Given the description of an element on the screen output the (x, y) to click on. 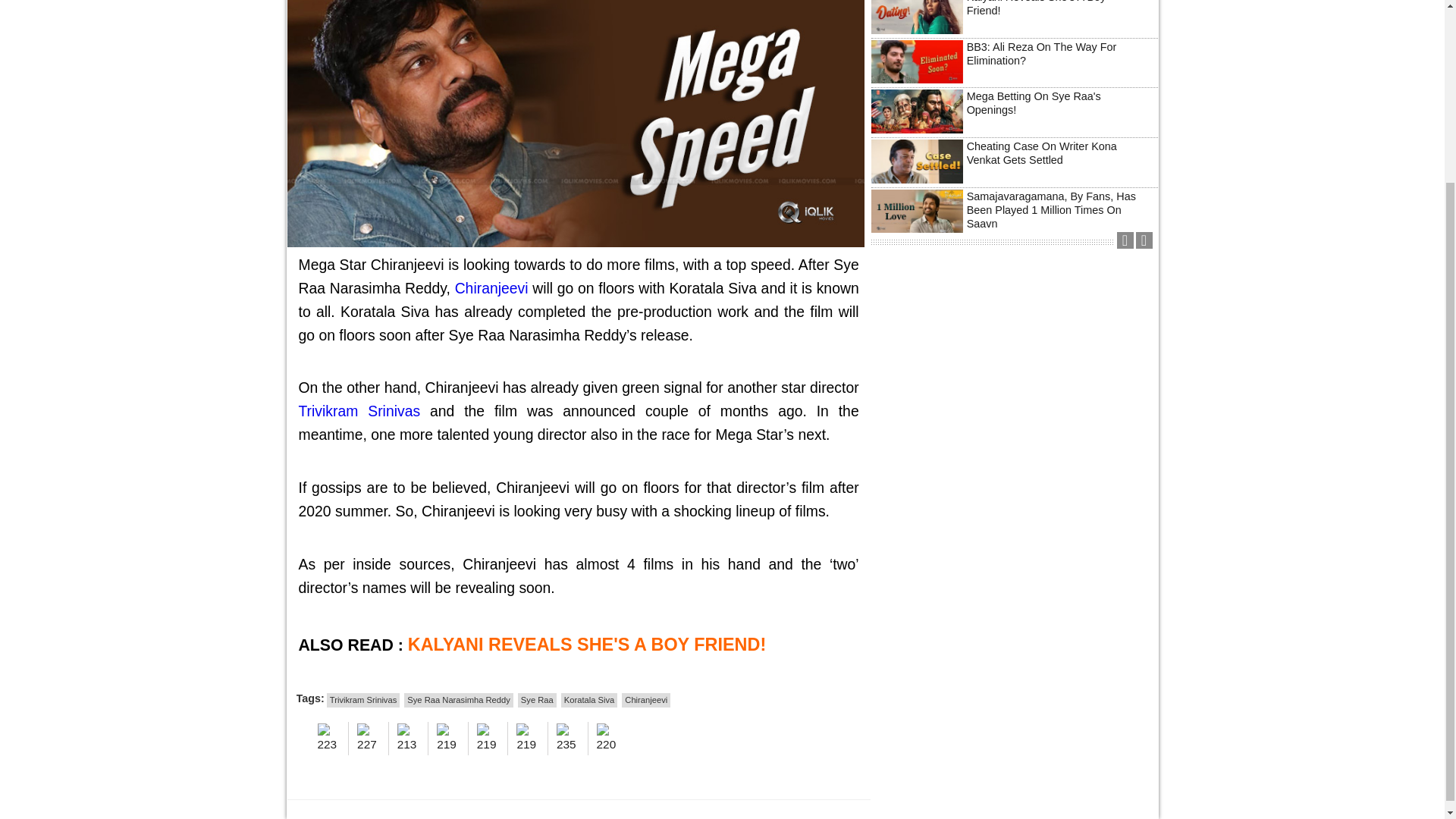
Next (1144, 240)
Previous (1124, 240)
